Given the description of an element on the screen output the (x, y) to click on. 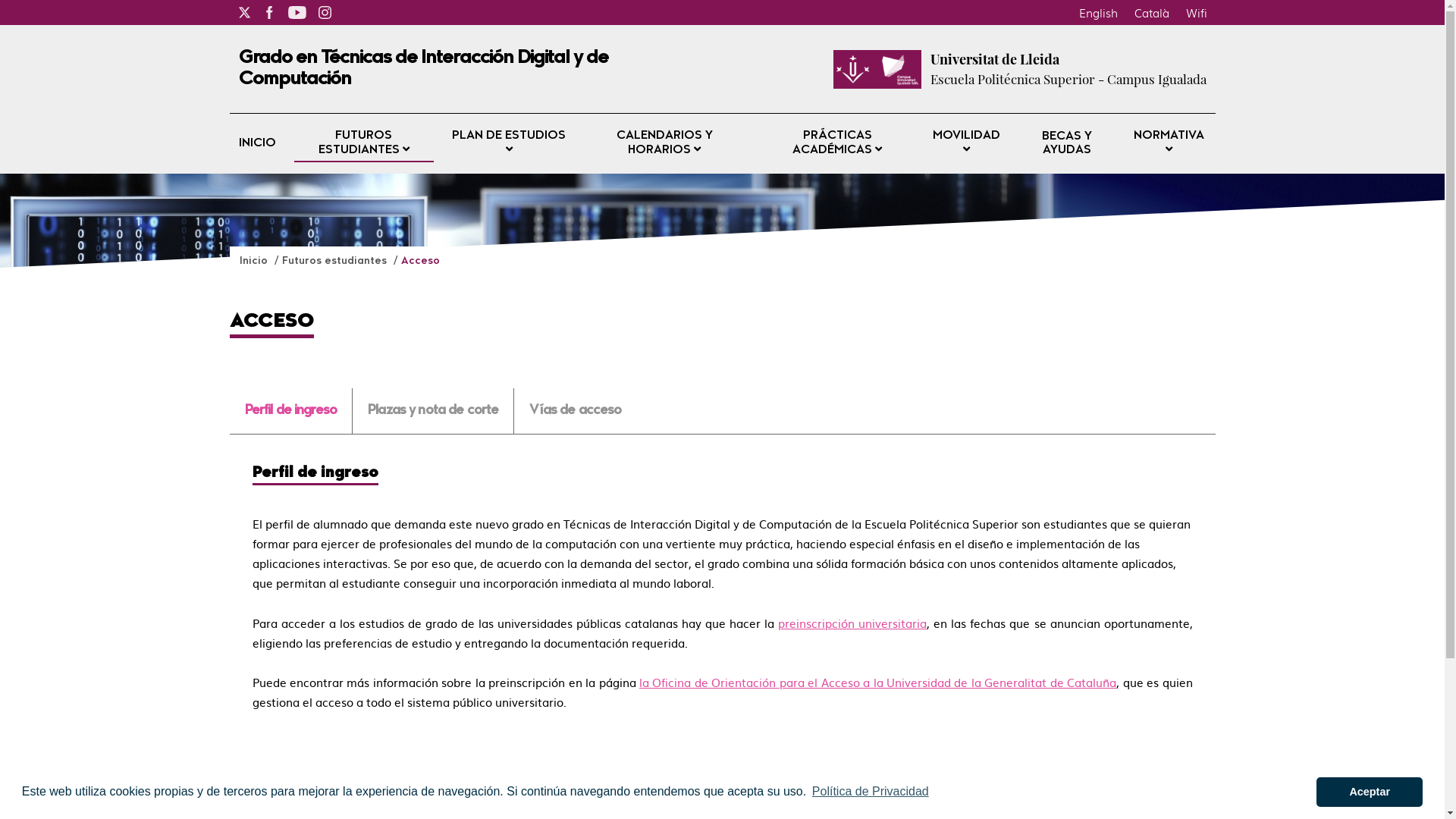
Wifi Element type: text (1195, 12)
MOVILIDAD Element type: text (965, 143)
English Element type: text (1098, 12)
NORMATIVA Element type: text (1169, 143)
Futuros estudiantes Element type: text (335, 261)
CALENDARIOS Y HORARIOS Element type: text (664, 143)
BECAS Y AYUDAS Element type: text (1066, 142)
PLAN DE ESTUDIOS Element type: text (508, 143)
Inicio Element type: text (254, 261)
Acceso Element type: text (419, 261)
INICIO Element type: text (256, 143)
Aceptar Element type: text (1369, 791)
FUTUROS ESTUDIANTES Element type: text (364, 143)
